Given the description of an element on the screen output the (x, y) to click on. 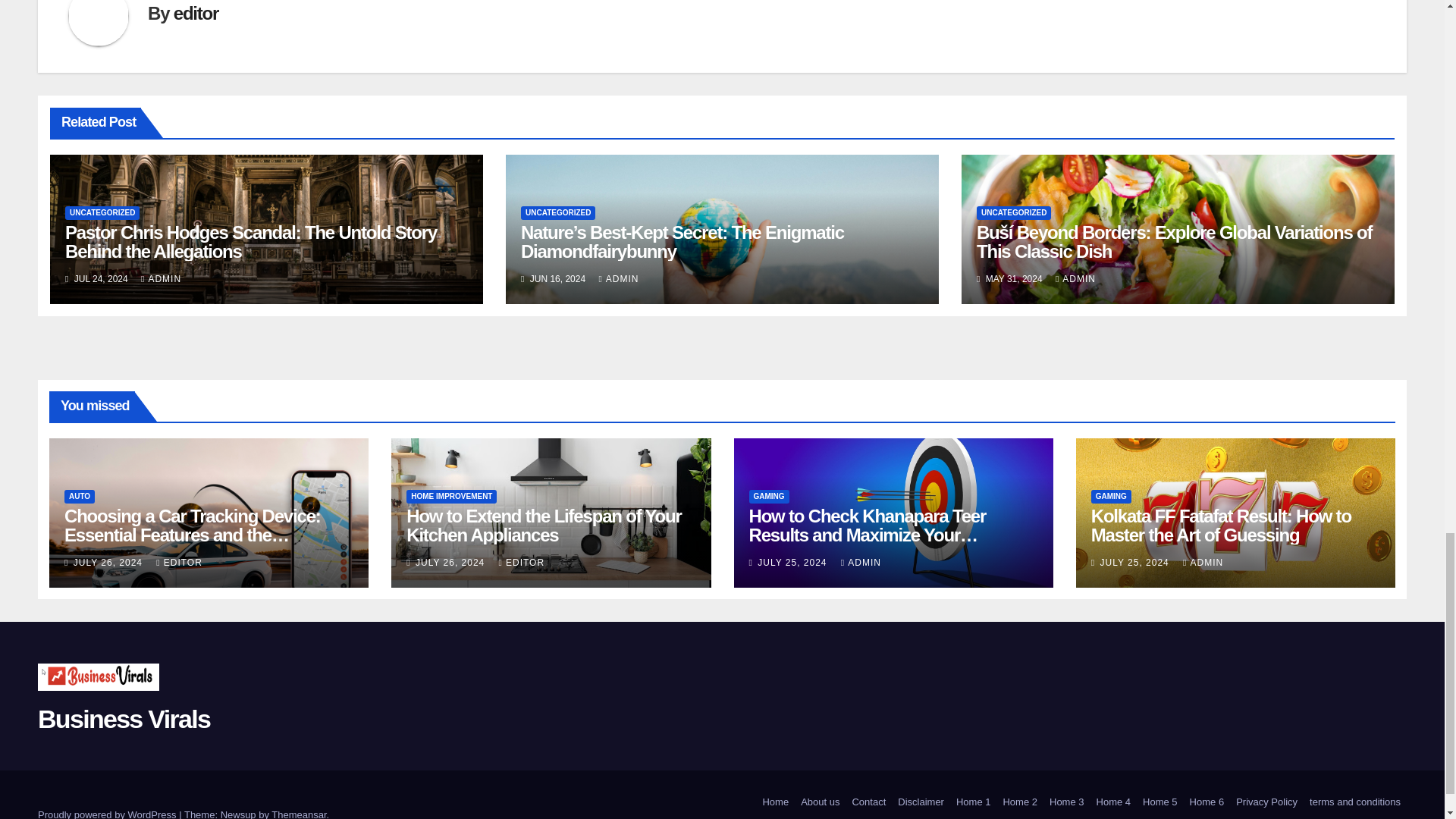
editor (195, 13)
